Given the description of an element on the screen output the (x, y) to click on. 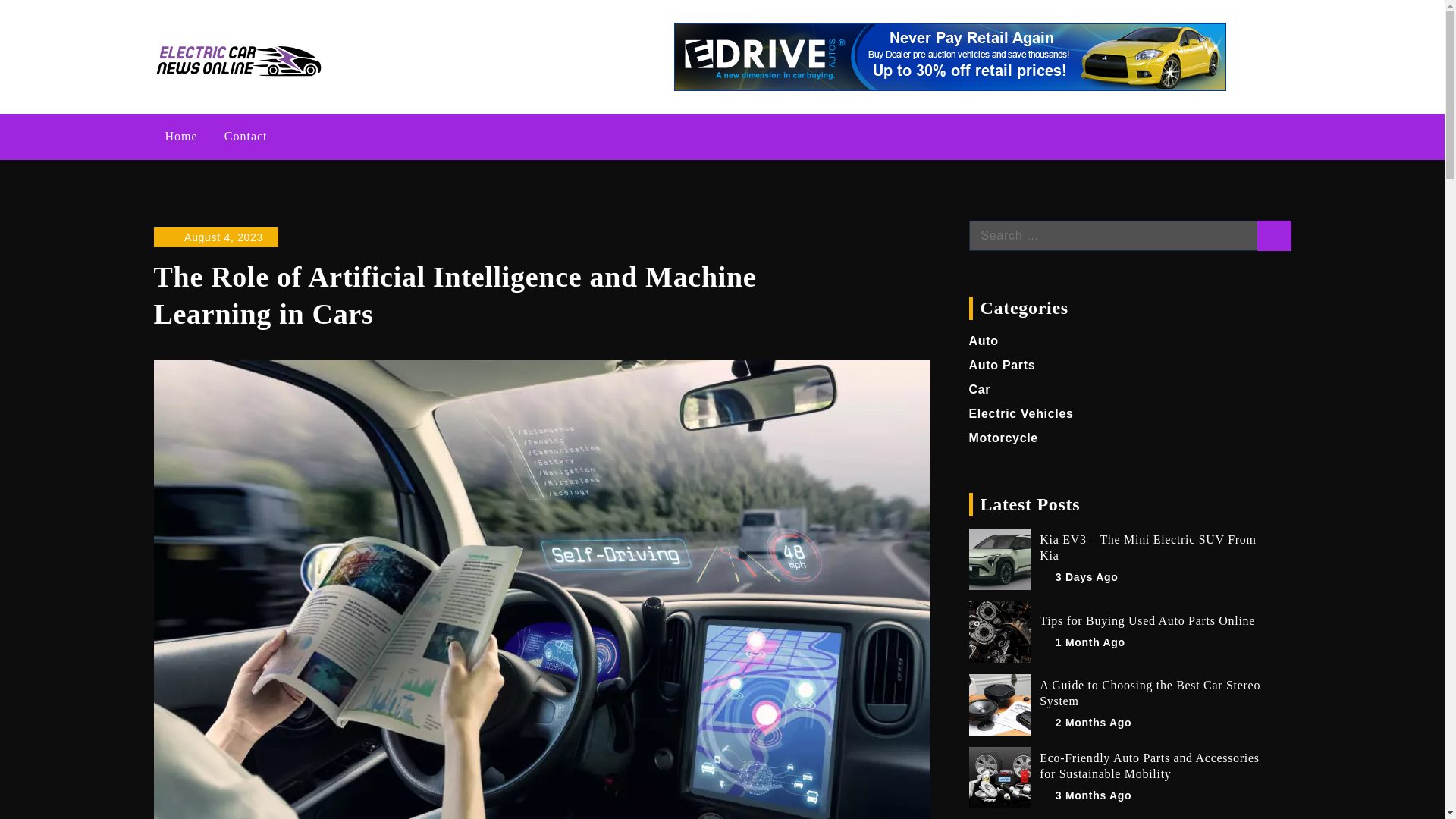
Auto (983, 340)
Contact (245, 136)
Home (180, 136)
Auto Parts (1002, 364)
Motorcycle (1003, 437)
Electric Car News Online (477, 42)
Electric Vehicles (1021, 413)
August 4, 2023 (215, 237)
Car (980, 389)
Search (1274, 235)
